Given the description of an element on the screen output the (x, y) to click on. 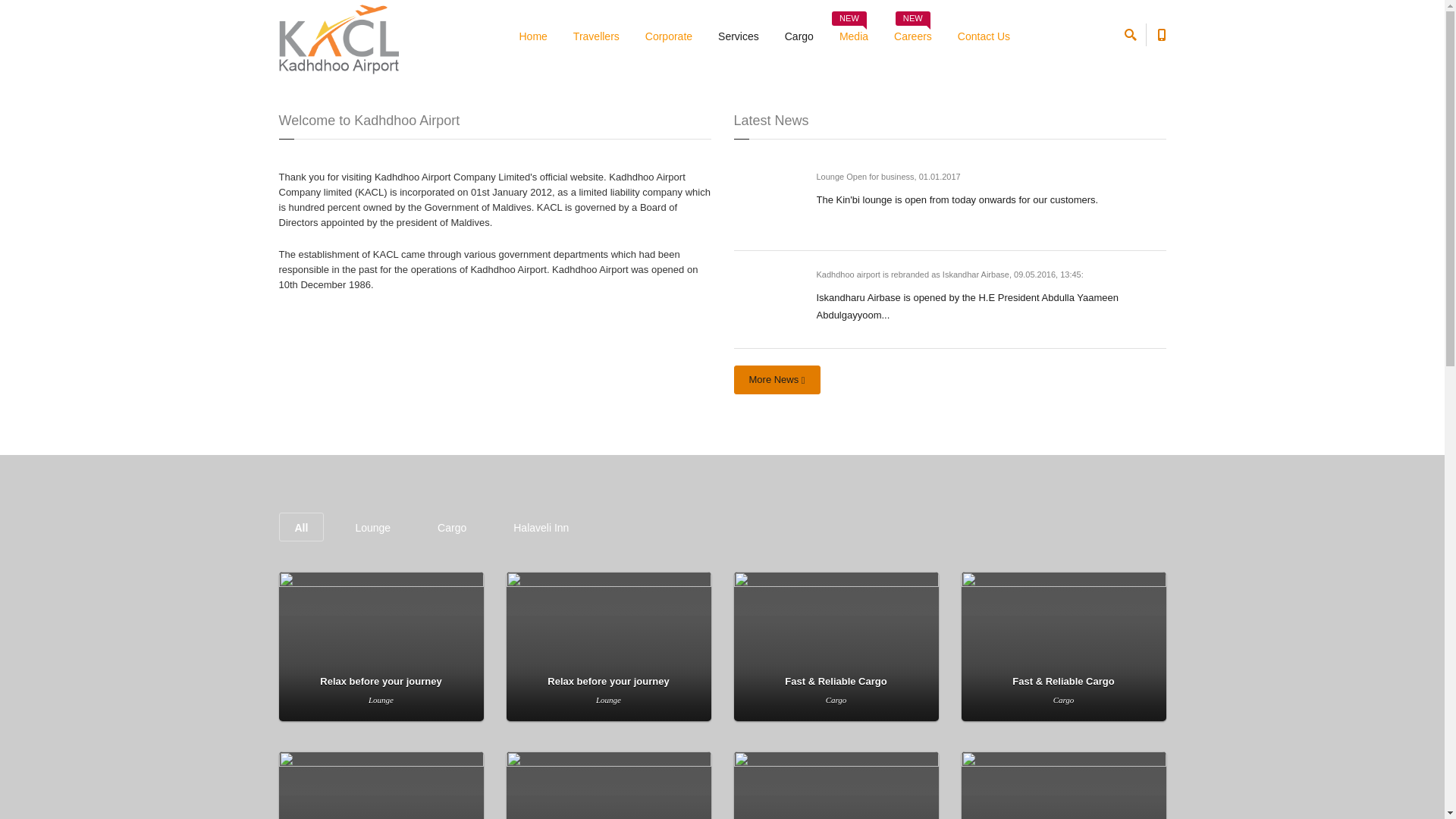
Travellers (596, 36)
Corporate (668, 36)
Cargo (799, 36)
Services (738, 36)
Home (853, 36)
